Given the description of an element on the screen output the (x, y) to click on. 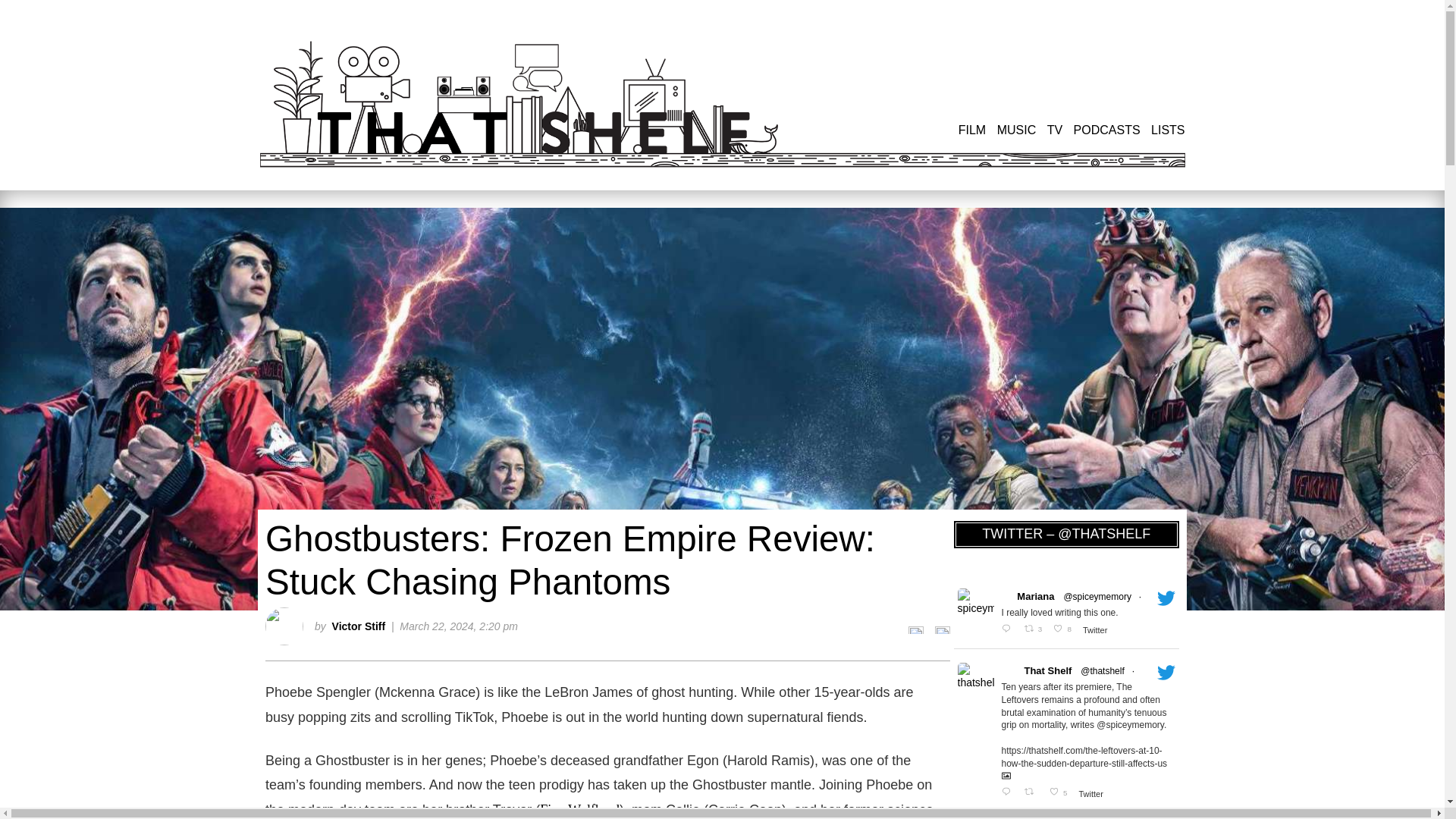
TV (1054, 129)
Victor Stiff (358, 625)
MUSIC (1016, 129)
Finn Wolfhard (580, 809)
Home (536, 104)
PODCASTS (1107, 129)
TV (1054, 129)
FILM (971, 129)
Podcasts (1107, 129)
LISTS (1168, 129)
